Given the description of an element on the screen output the (x, y) to click on. 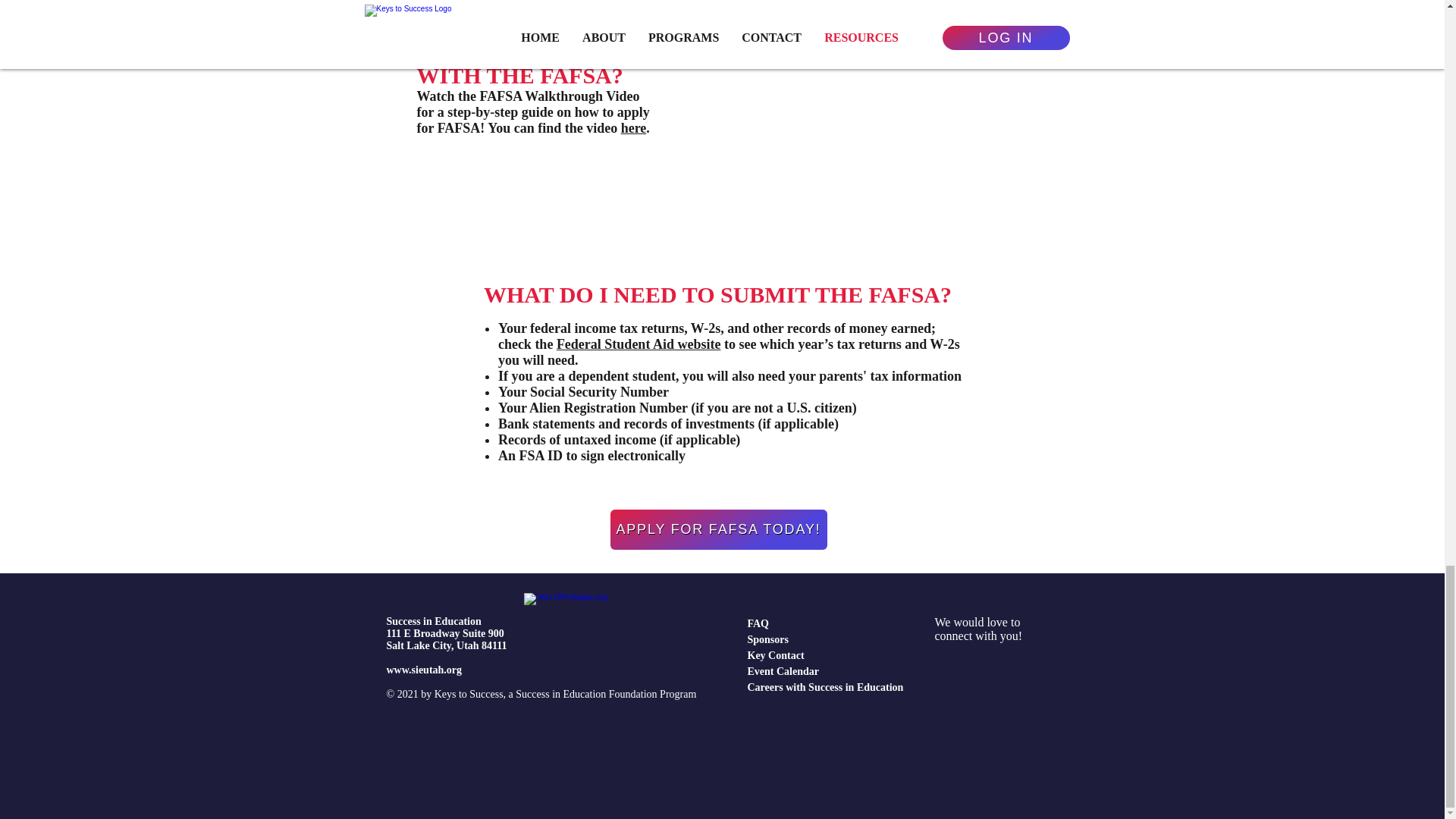
www.sieutah.org (425, 669)
Sponsors (768, 639)
Careers with Success in Education (826, 686)
Federal Student Aid website (638, 344)
FAQ (759, 623)
Event Calendar (783, 671)
APPLY FOR FAFSA TODAY! (718, 529)
Key Contact (776, 655)
here (633, 127)
